Given the description of an element on the screen output the (x, y) to click on. 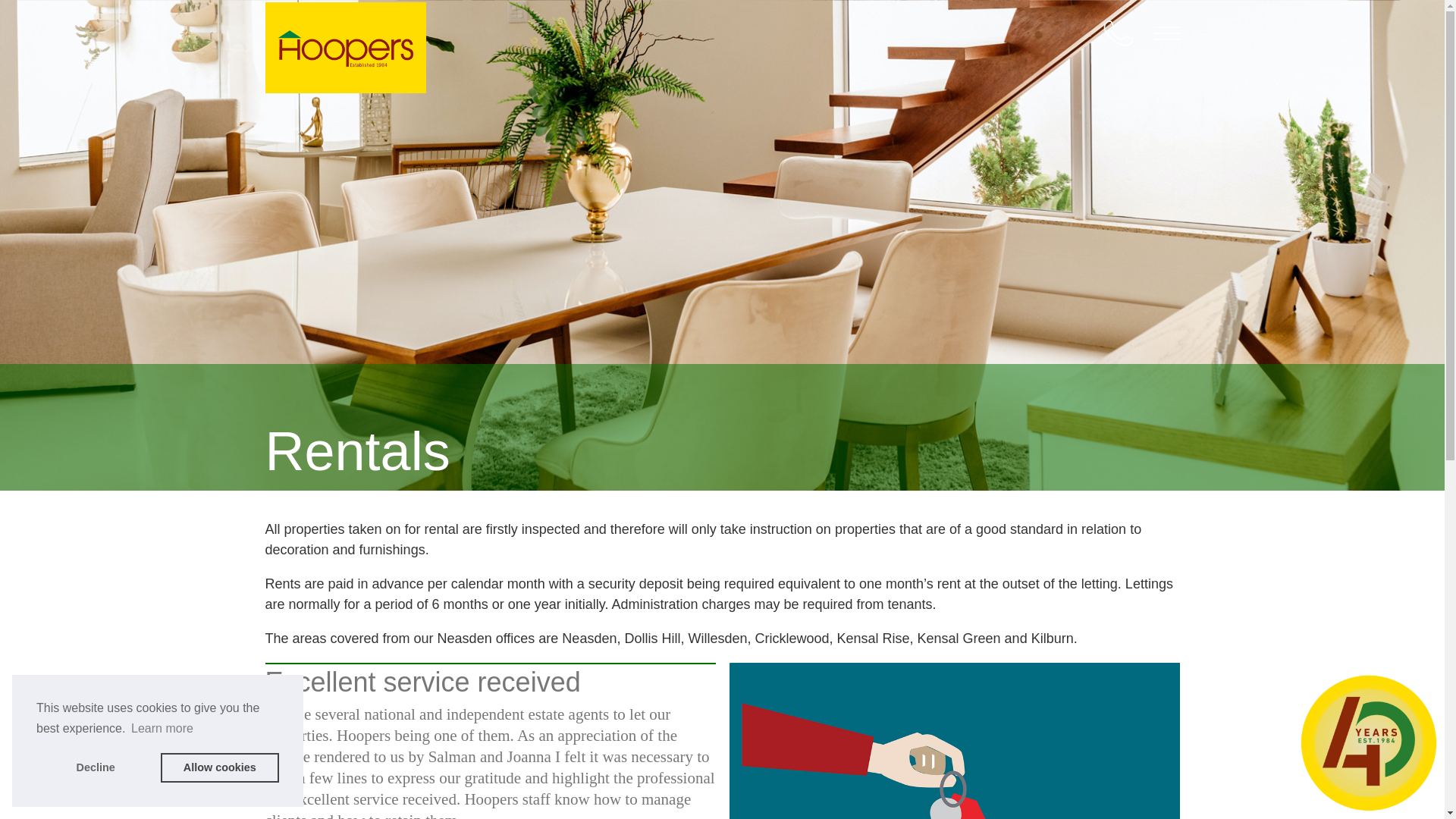
Call us (1117, 32)
Allow cookies (219, 767)
Learn more (162, 728)
Menu (1166, 33)
Decline (95, 767)
